Given the description of an element on the screen output the (x, y) to click on. 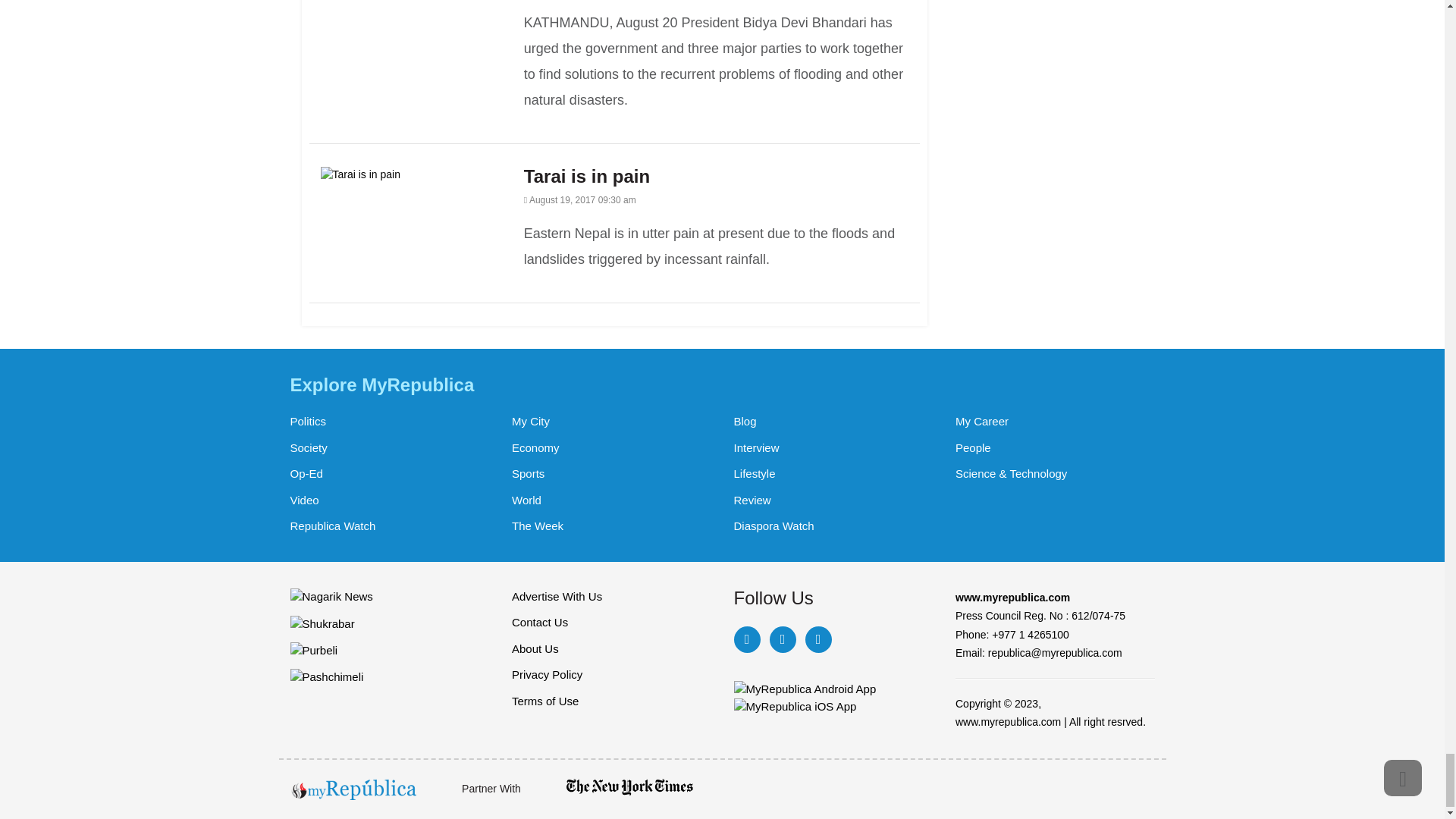
Facebook (746, 639)
Youtube (818, 639)
Twitter (781, 639)
